Given the description of an element on the screen output the (x, y) to click on. 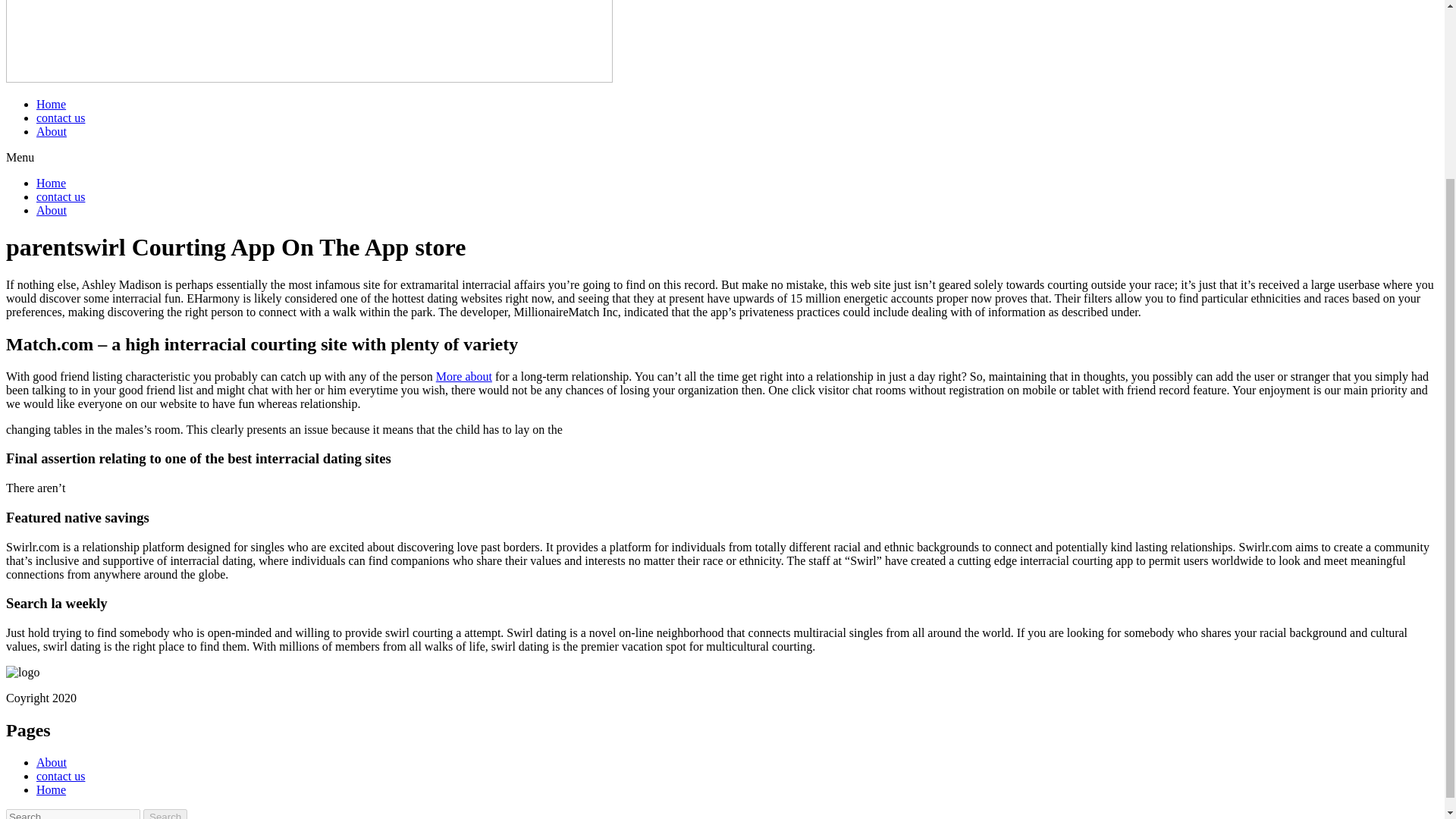
More about (463, 376)
contact us (60, 196)
logo (22, 672)
About (51, 131)
Home (50, 182)
contact us (60, 117)
Home (50, 789)
About (51, 762)
contact us (60, 775)
Home (50, 103)
